Given the description of an element on the screen output the (x, y) to click on. 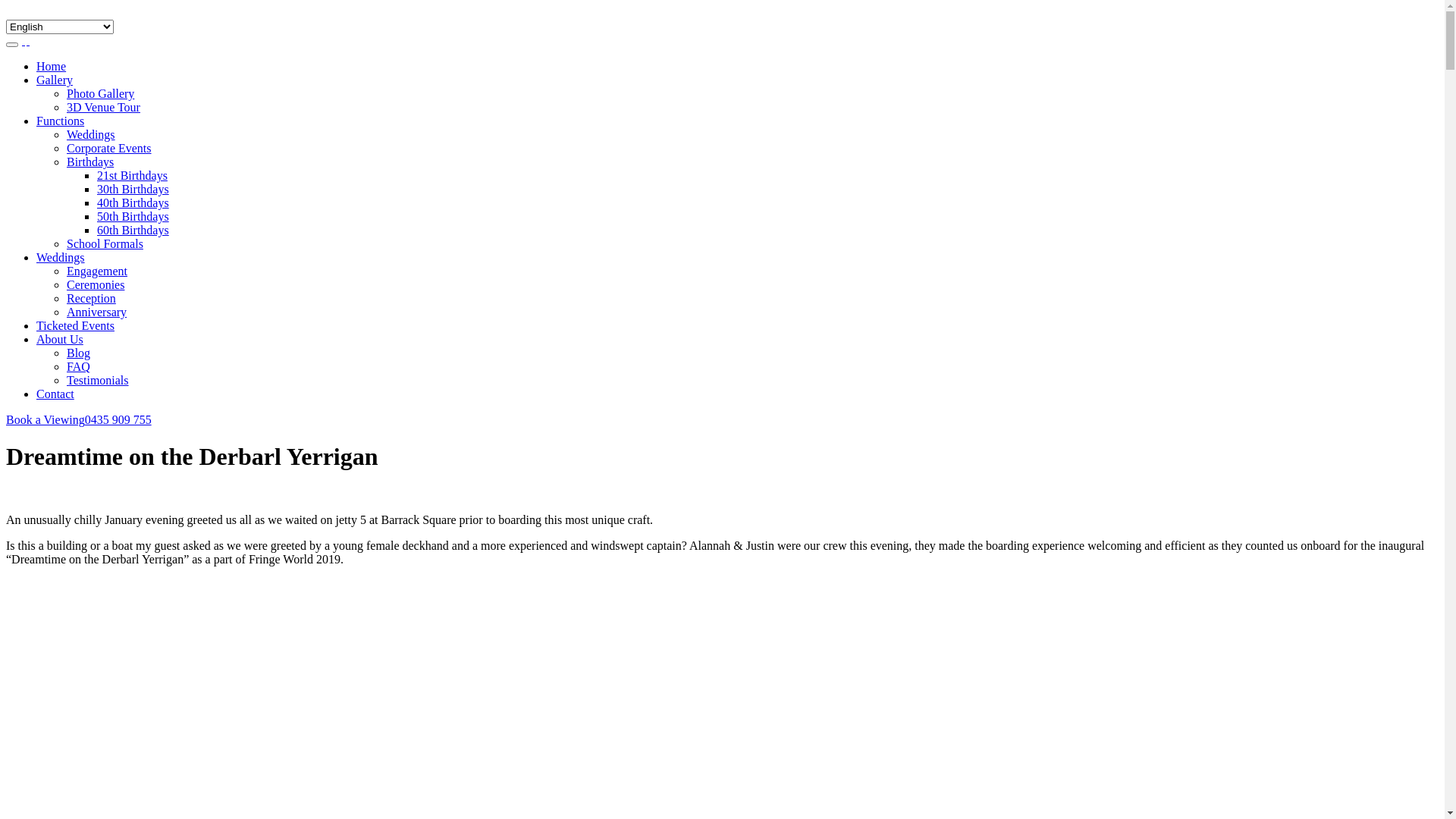
Corporate Events Element type: text (108, 147)
Book a Viewing Element type: text (45, 419)
Ceremonies Element type: text (95, 284)
Gallery Element type: text (54, 79)
Contact Element type: text (55, 393)
FAQ Element type: text (78, 366)
Engagement Element type: text (96, 270)
21st Birthdays Element type: text (132, 175)
Testimonials Element type: text (97, 379)
50th Birthdays Element type: text (133, 216)
40th Birthdays Element type: text (133, 202)
Reception Element type: text (91, 297)
Blog Element type: text (78, 352)
Ticketed Events Element type: text (75, 325)
Functions Element type: text (60, 120)
School Formals Element type: text (104, 243)
Weddings Element type: text (90, 134)
Home Element type: text (50, 65)
30th Birthdays Element type: text (133, 188)
Weddings Element type: text (60, 257)
About Us Element type: text (59, 338)
0435 909 755 Element type: text (117, 419)
Anniversary Element type: text (96, 311)
3D Venue Tour Element type: text (103, 106)
Photo Gallery Element type: text (100, 93)
60th Birthdays Element type: text (133, 229)
Birthdays Element type: text (89, 161)
